Given the description of an element on the screen output the (x, y) to click on. 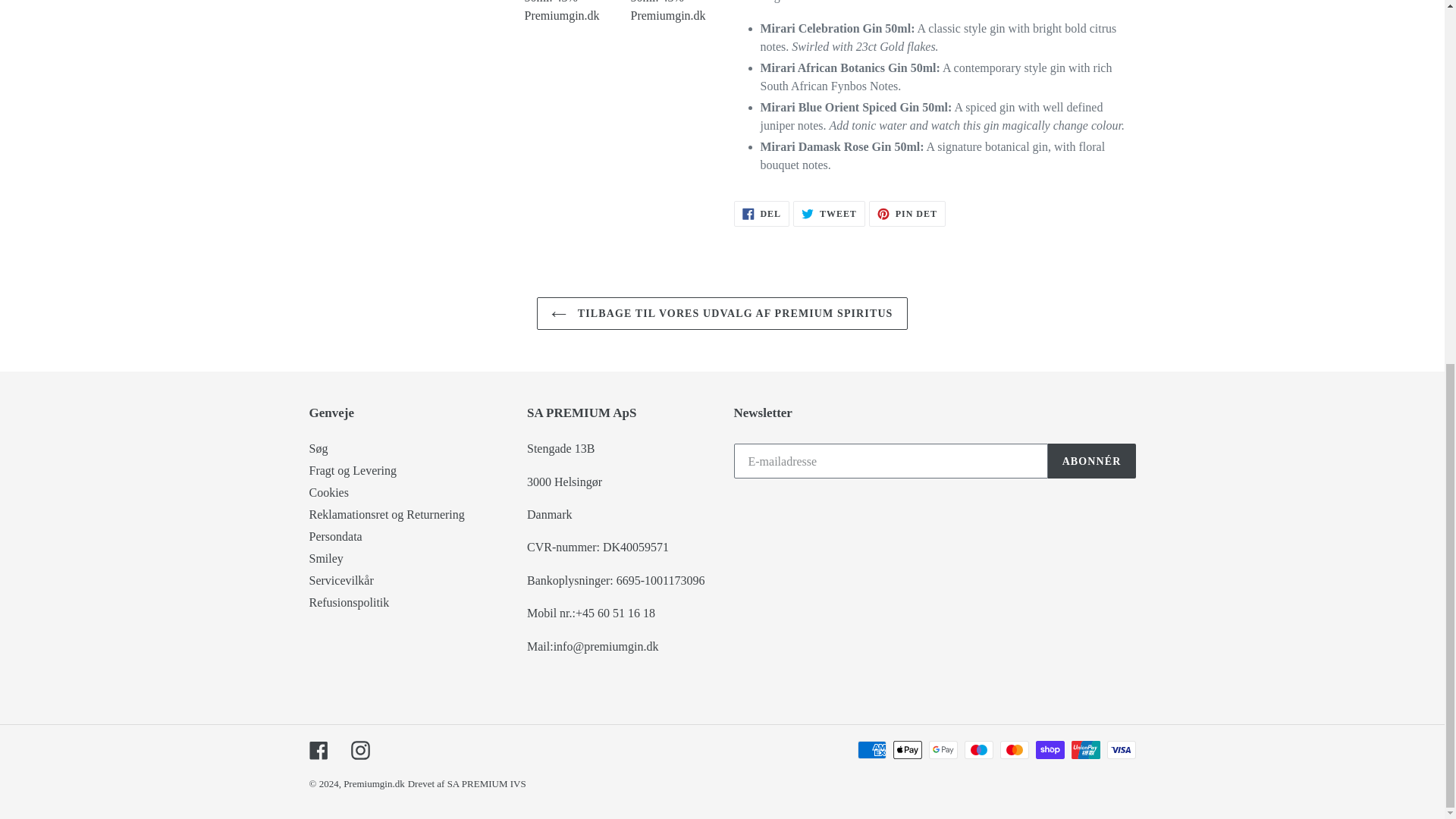
Refusionspolitik (349, 602)
Smiley (325, 558)
Fragt og Levering (352, 470)
TILBAGE TIL VORES UDVALG AF PREMIUM SPIRITUS (722, 313)
Cookies (328, 492)
Reklamationsret og Returnering (386, 513)
Persondata (335, 535)
